Given the description of an element on the screen output the (x, y) to click on. 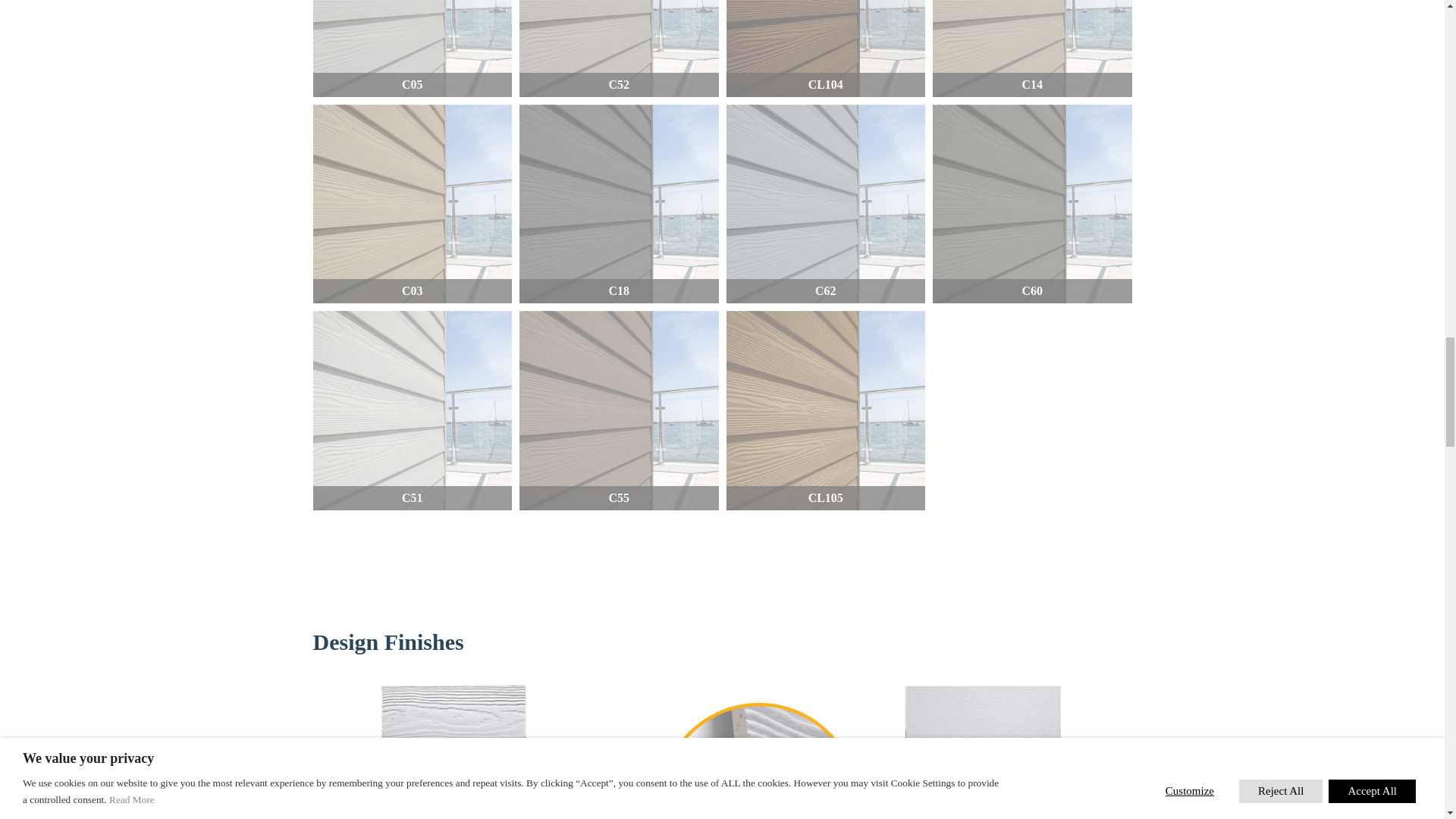
C14 (1032, 48)
C55 (619, 410)
C60 (1032, 203)
C18 (619, 203)
C52 (619, 48)
C62 (826, 203)
C03 (412, 203)
CL105 (826, 410)
C05 (412, 48)
CL104 (826, 48)
